Given the description of an element on the screen output the (x, y) to click on. 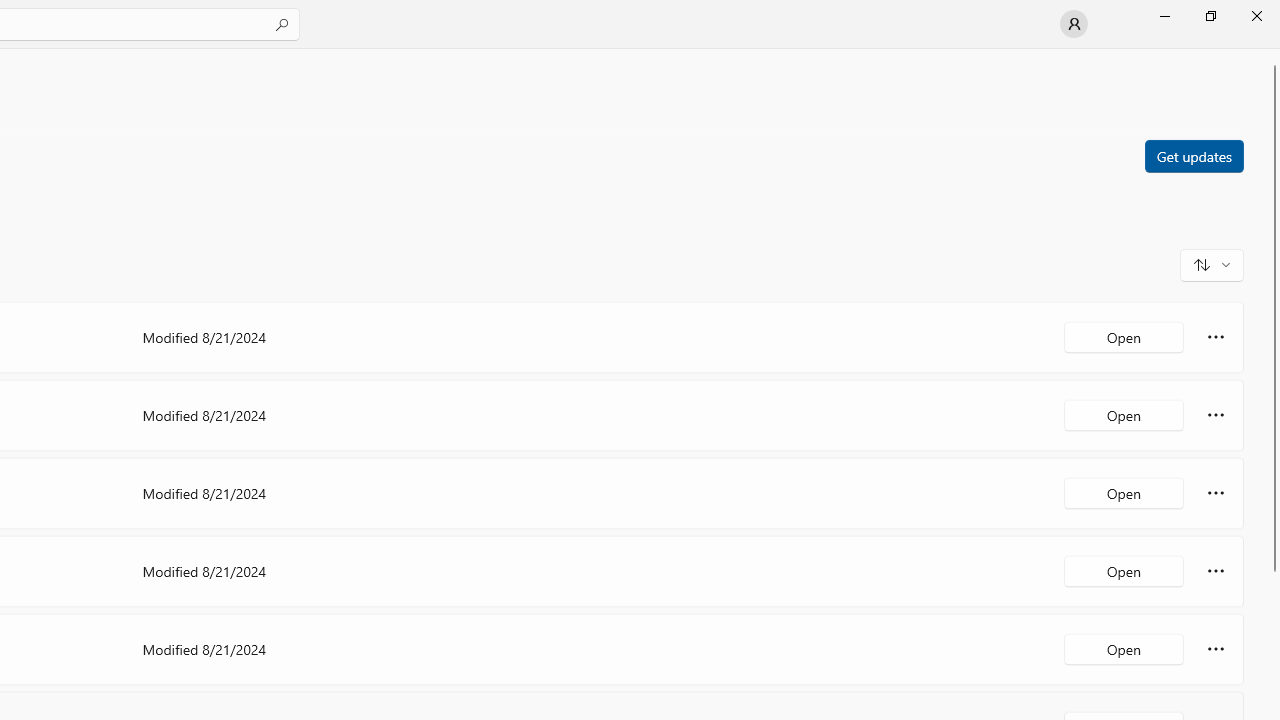
Sort and filter (1212, 263)
Get updates (1193, 155)
Restore Microsoft Store (1210, 15)
Minimize Microsoft Store (1164, 15)
User profile (1073, 24)
Close Microsoft Store (1256, 15)
More options (1215, 648)
Vertical Small Decrease (1272, 55)
Open (1123, 648)
